Given the description of an element on the screen output the (x, y) to click on. 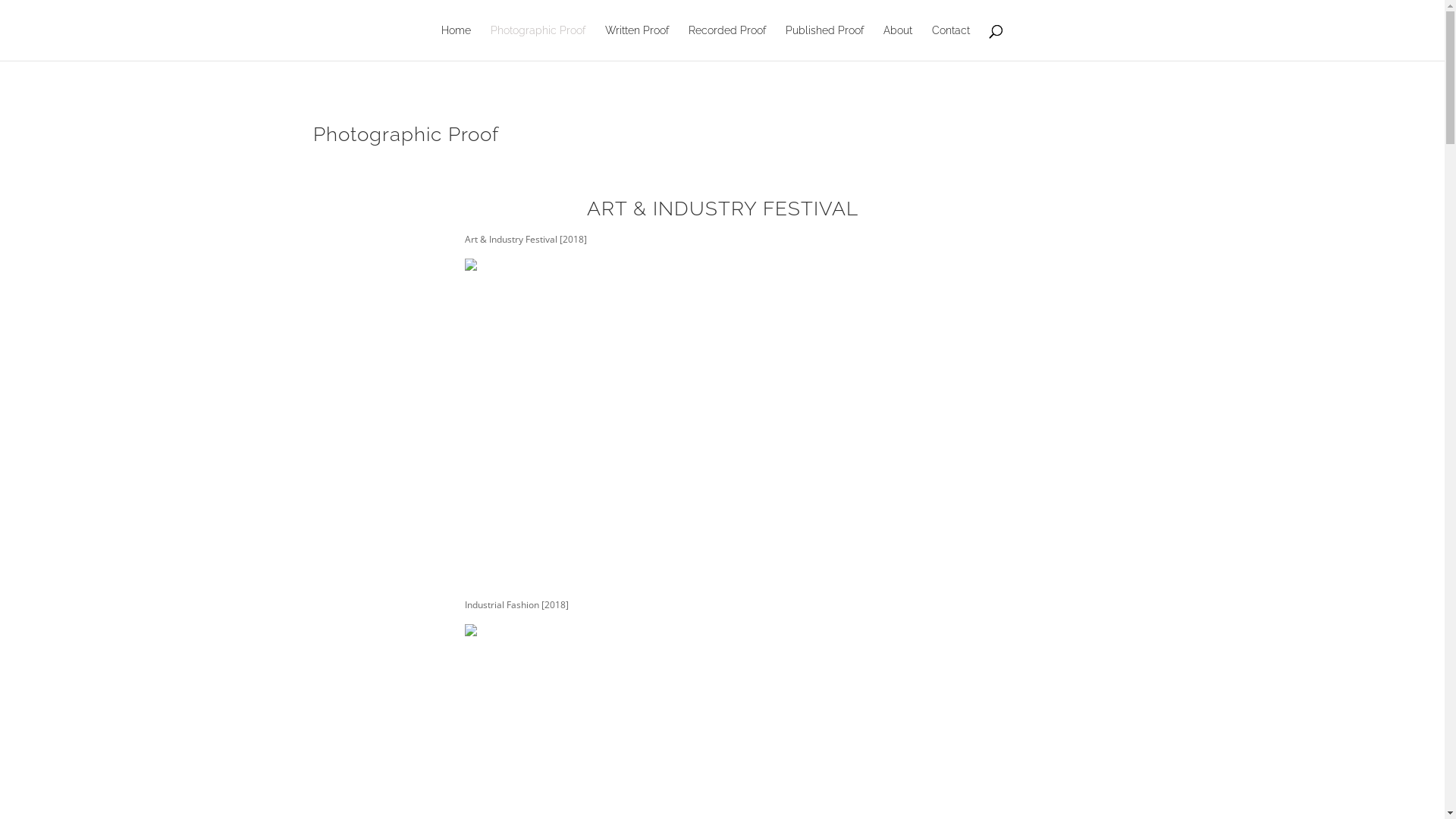
About Element type: text (897, 42)
Recorded Proof Element type: text (726, 42)
Home Element type: text (455, 42)
AIF18_General_01 Element type: hover (470, 266)
Published Proof Element type: text (824, 42)
Written Proof Element type: text (636, 42)
IndustrialFashion2018_01 Element type: hover (470, 631)
Contact Element type: text (950, 42)
Photographic Proof Element type: text (537, 42)
